Given the description of an element on the screen output the (x, y) to click on. 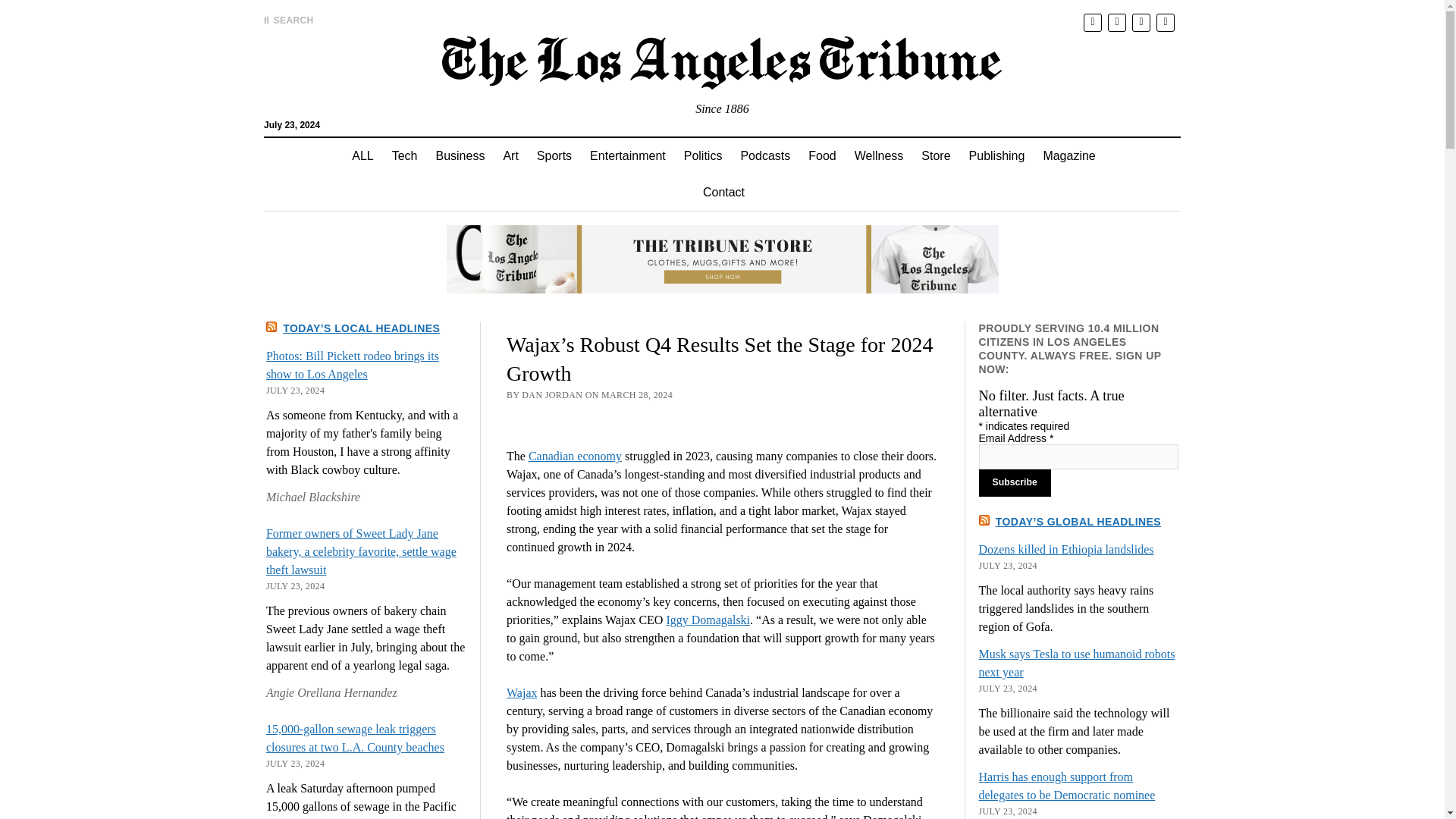
Subscribe (1014, 482)
Magazine (1068, 156)
Wellness (878, 156)
Search (945, 129)
Business (459, 156)
Tech (404, 156)
Podcasts (764, 156)
Publishing (996, 156)
Store (935, 156)
ALL (361, 156)
Photos: Bill Pickett rodeo brings its show to Los Angeles (352, 364)
Art (510, 156)
Sports (553, 156)
